Given the description of an element on the screen output the (x, y) to click on. 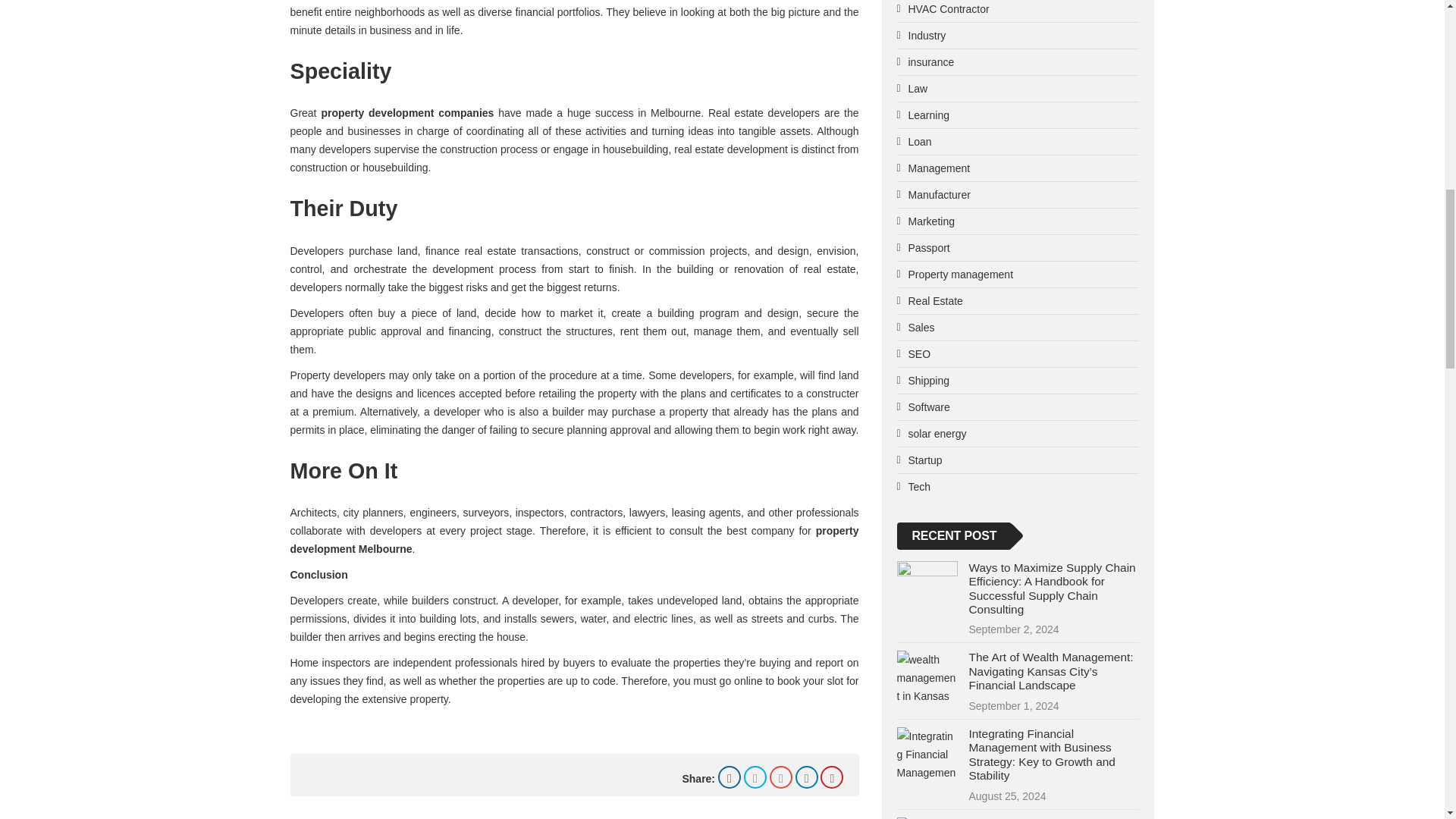
property development companies (406, 112)
Pinterest (832, 776)
property development Melbourne (574, 539)
Twitter (755, 776)
Linkedin (806, 776)
Google Plus (781, 776)
Facebook (729, 776)
